Given the description of an element on the screen output the (x, y) to click on. 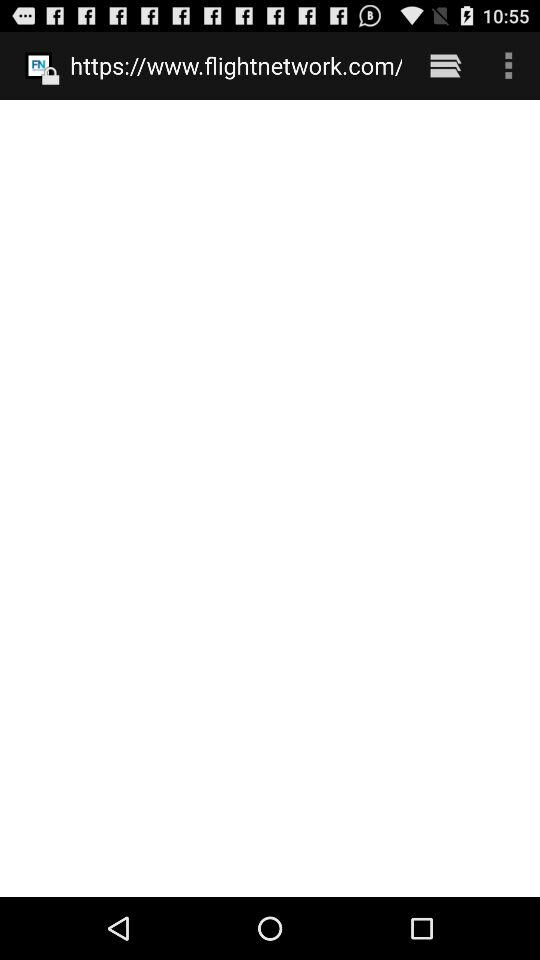
choose https www flightnetwork (235, 65)
